Given the description of an element on the screen output the (x, y) to click on. 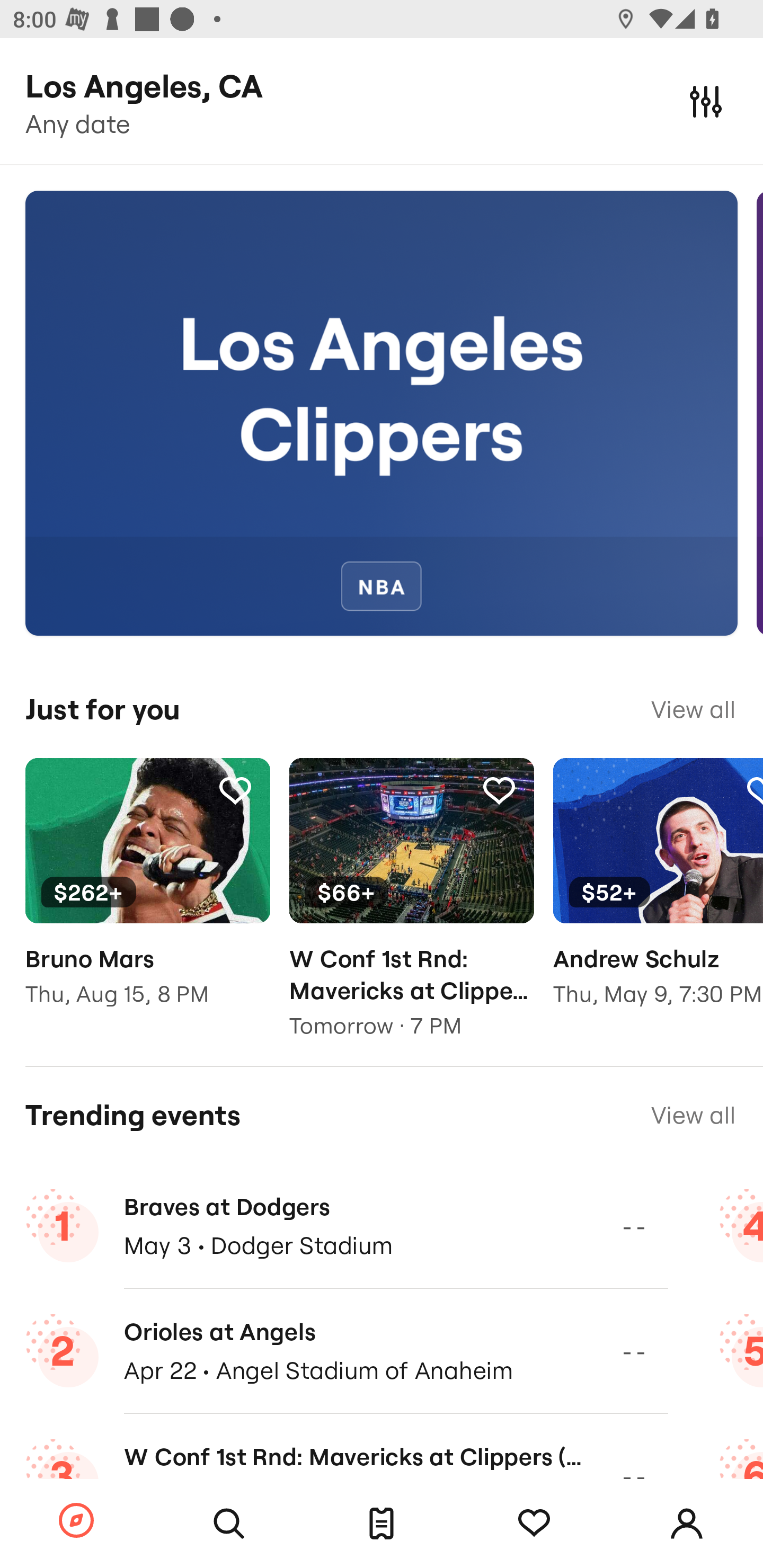
Filters (705, 100)
View all (693, 709)
Tracking $262+ Bruno Mars Thu, Aug 15, 8 PM (147, 895)
Tracking $52+ Andrew Schulz Thu, May 9, 7:30 PM (658, 895)
Tracking (234, 790)
Tracking (498, 790)
View all (693, 1114)
Browse (76, 1521)
Search (228, 1523)
Tickets (381, 1523)
Tracking (533, 1523)
Account (686, 1523)
